Given the description of an element on the screen output the (x, y) to click on. 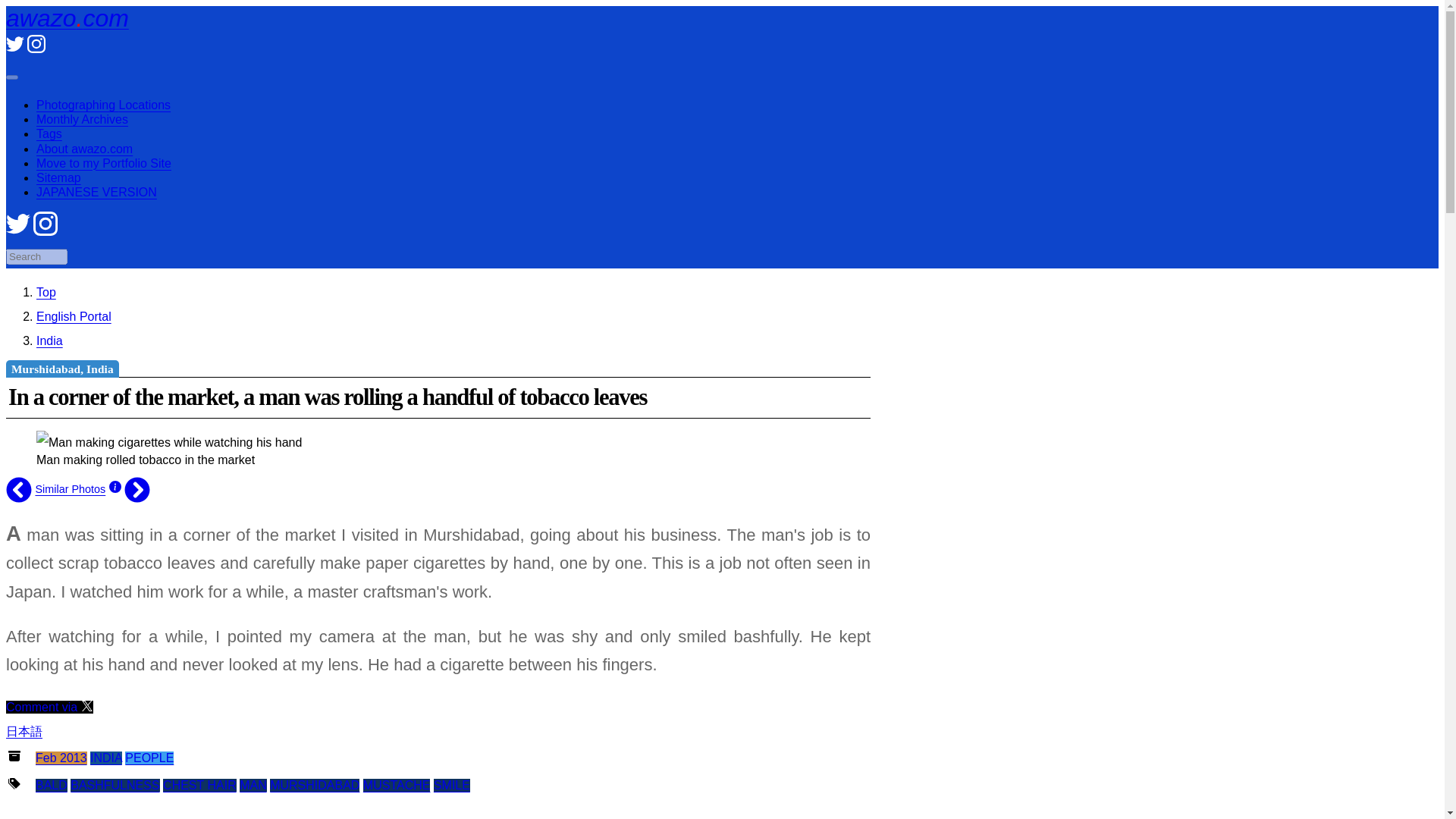
Photo Information (114, 489)
Top (46, 291)
PEOPLE (149, 757)
MURSHIDABAD (314, 784)
CATEGORY ARCHIVE of INDIA (106, 757)
English Portal (74, 316)
India (49, 340)
Sitemap (58, 177)
Similar Photos (69, 489)
Photos Tagged with MAN (253, 784)
Photos Tagged with BASHFULNESS (113, 784)
English Portal (74, 316)
JAPANESE VERSION (96, 192)
BALD (50, 784)
Move to my Portfolio Site (103, 163)
